Given the description of an element on the screen output the (x, y) to click on. 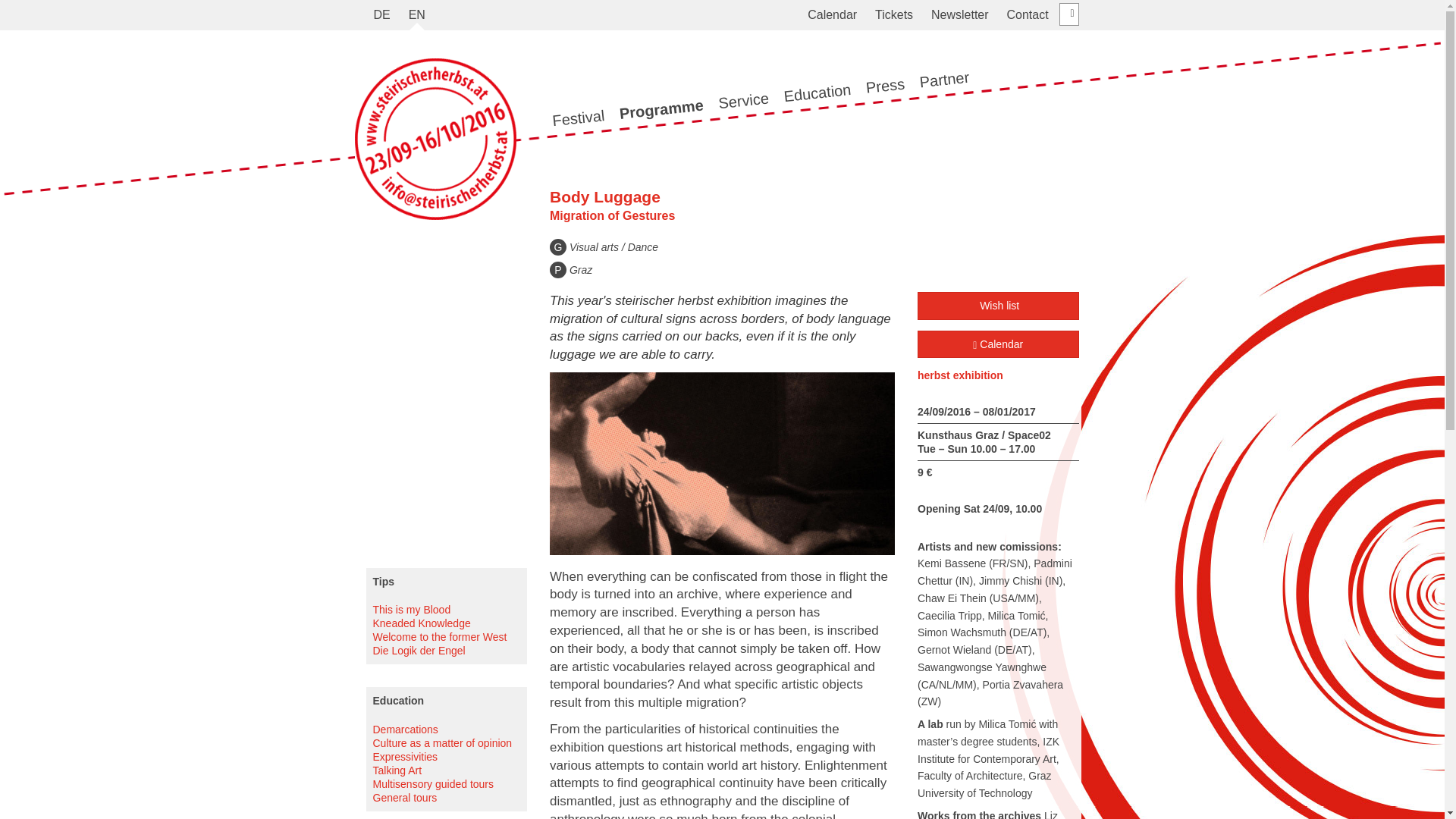
Kneaded Knowledge (421, 622)
Service (743, 96)
Die Logik der Engel (418, 650)
Programme (660, 103)
Press (884, 83)
This is my Blood (411, 609)
Calendar (831, 15)
Festival (581, 114)
Welcome to the former West (439, 636)
Tickets (893, 15)
Newsletter (959, 15)
Education (815, 88)
Contact (1026, 15)
Demarcations (405, 729)
EN (416, 15)
